Given the description of an element on the screen output the (x, y) to click on. 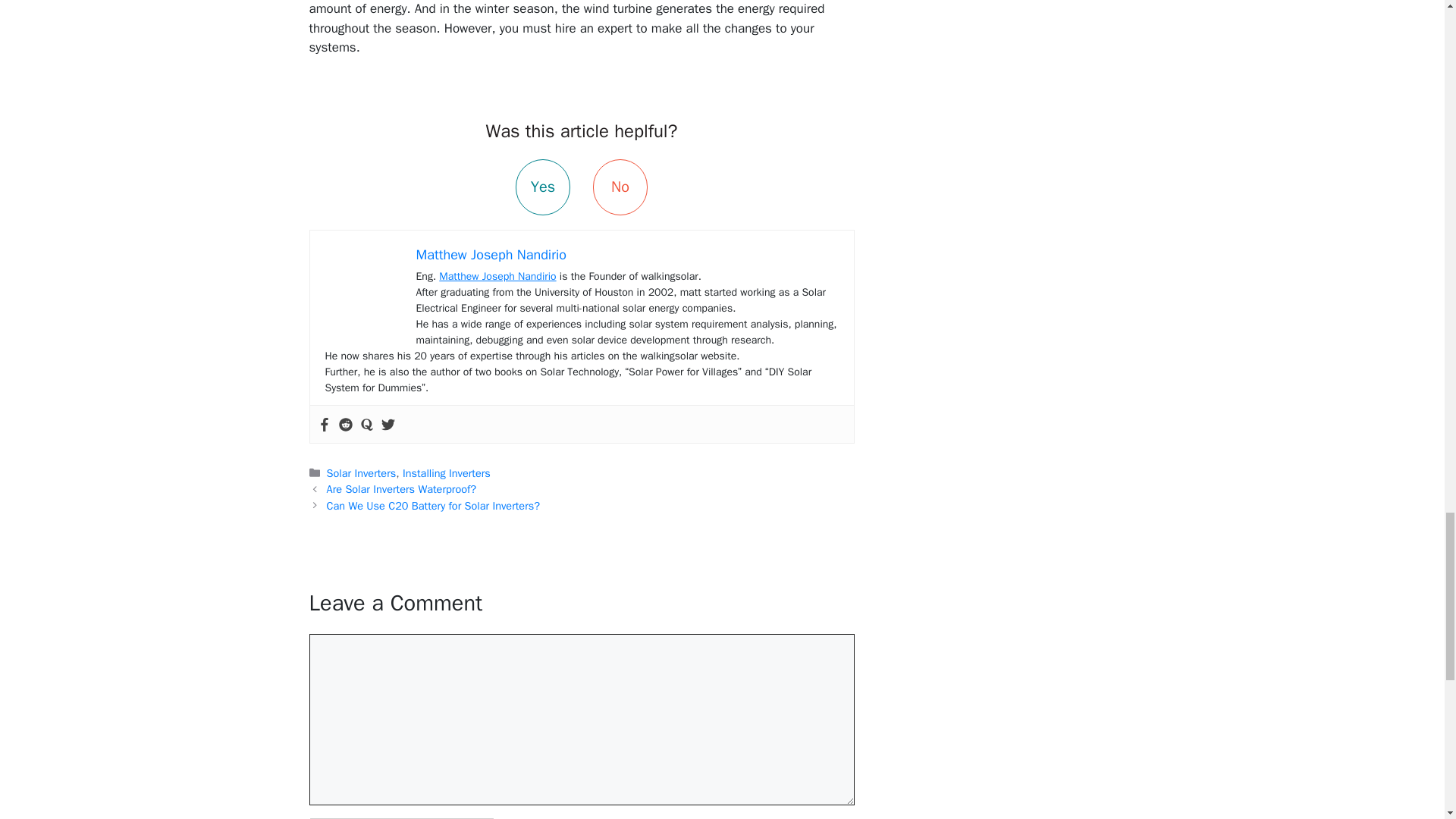
Reddit (344, 423)
Quora (365, 423)
Facebook (323, 423)
Twitter (387, 423)
